Given the description of an element on the screen output the (x, y) to click on. 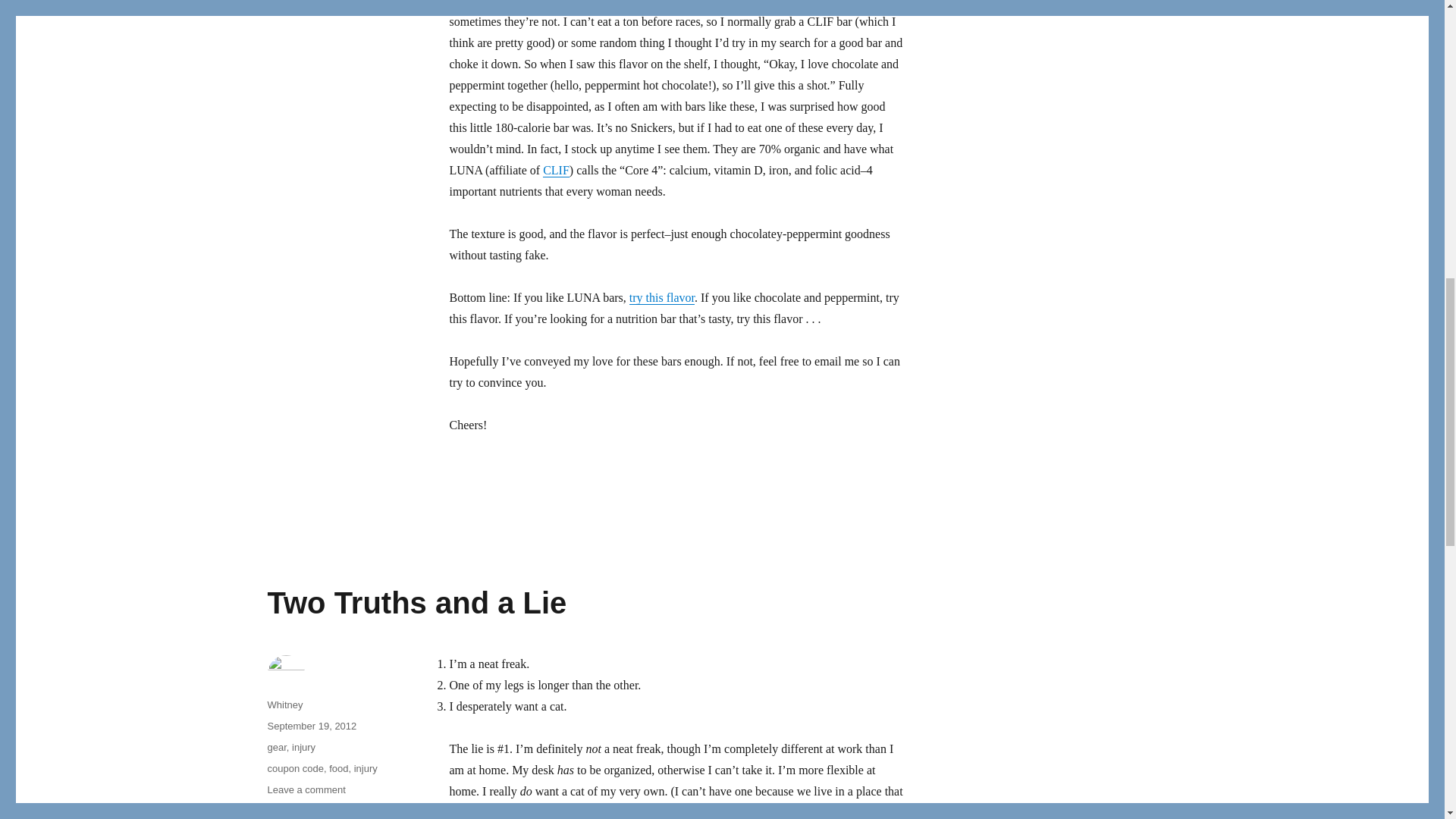
Two Truths and a Lie (416, 602)
CLIF (556, 169)
try this flavor (661, 297)
